Given the description of an element on the screen output the (x, y) to click on. 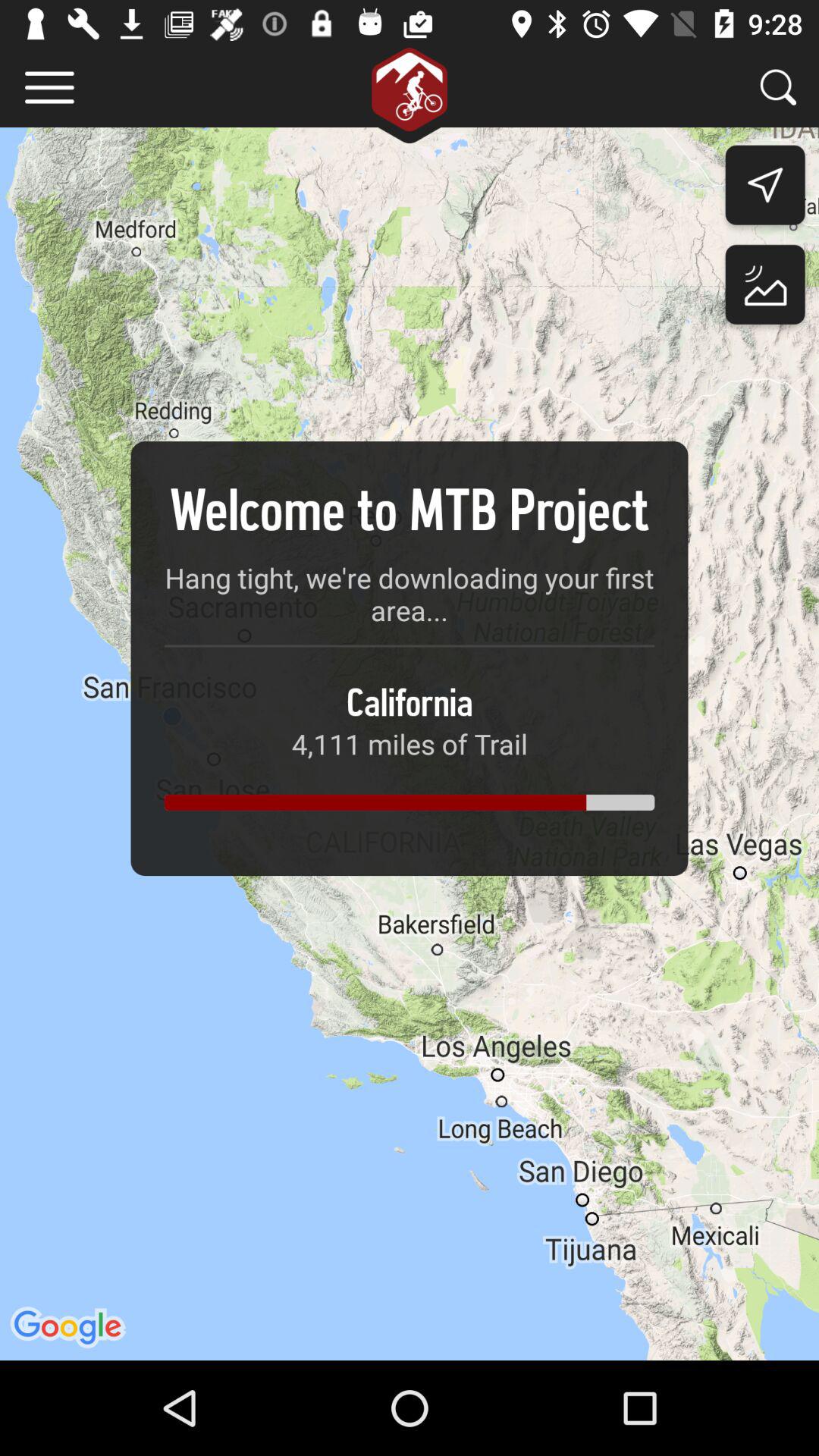
select location (765, 288)
